Given the description of an element on the screen output the (x, y) to click on. 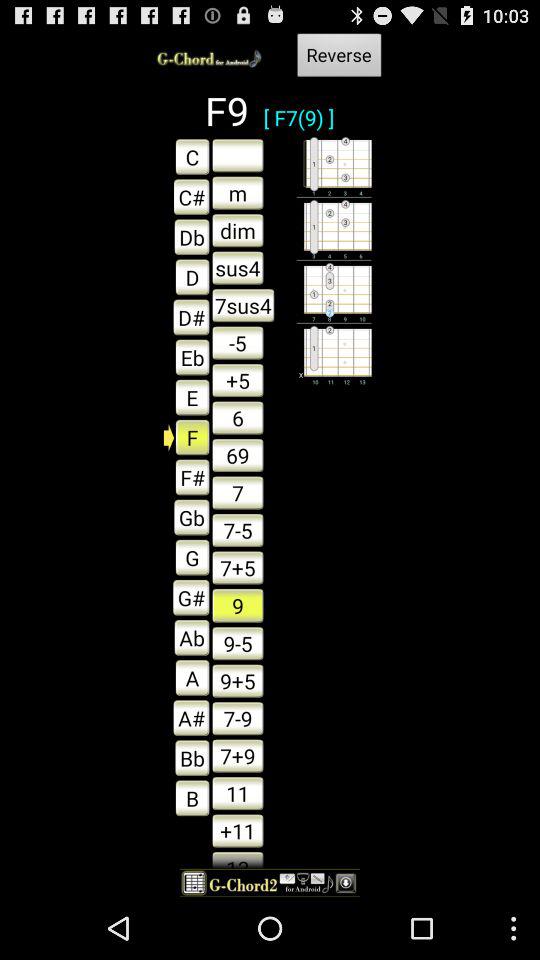
turn off db button (186, 236)
